Given the description of an element on the screen output the (x, y) to click on. 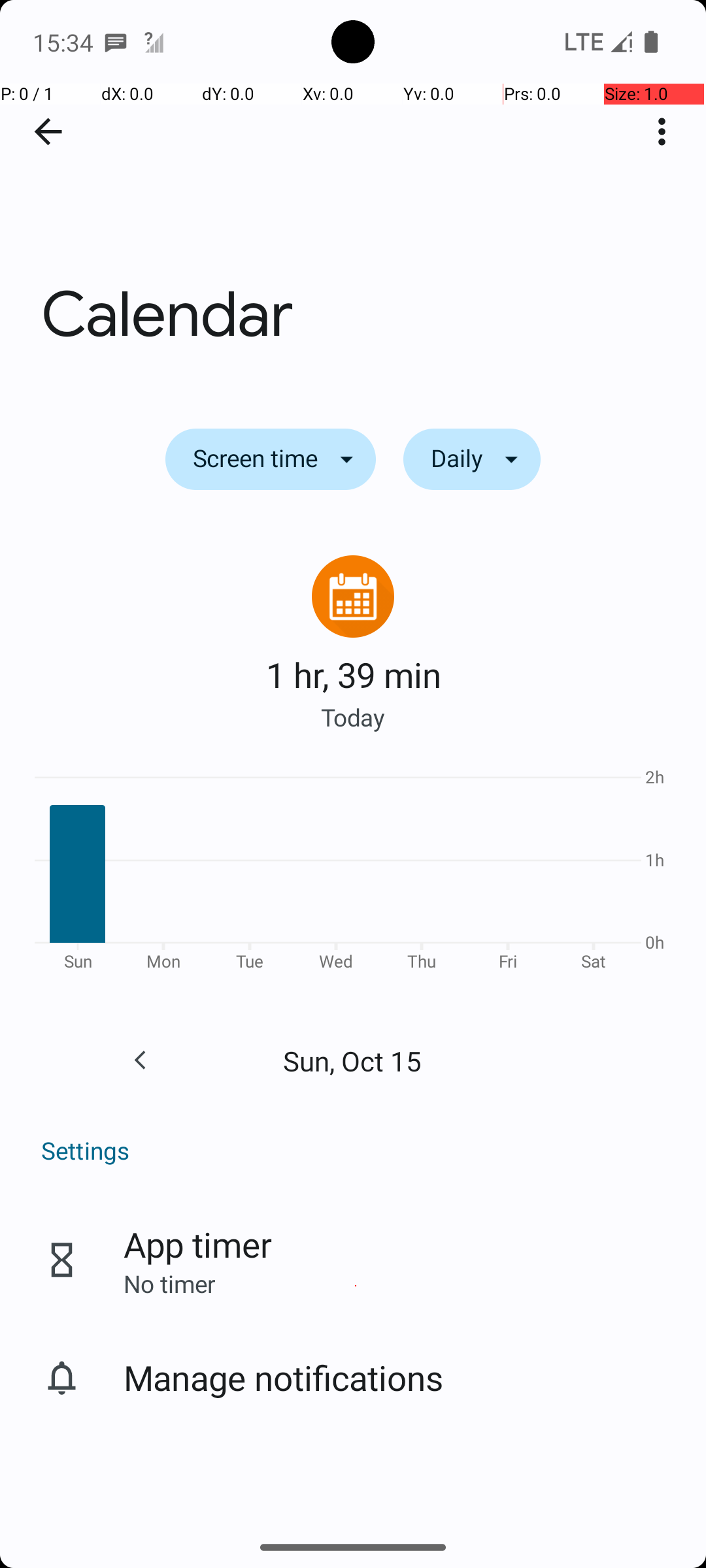
1 hr, 39 min Element type: android.widget.TextView (353, 674)
Go to the previous day Element type: android.widget.Button (139, 1060)
App timer Element type: android.widget.TextView (197, 1244)
No timer Element type: android.widget.TextView (169, 1283)
Manage notifications Element type: android.widget.TextView (283, 1377)
